Given the description of an element on the screen output the (x, y) to click on. 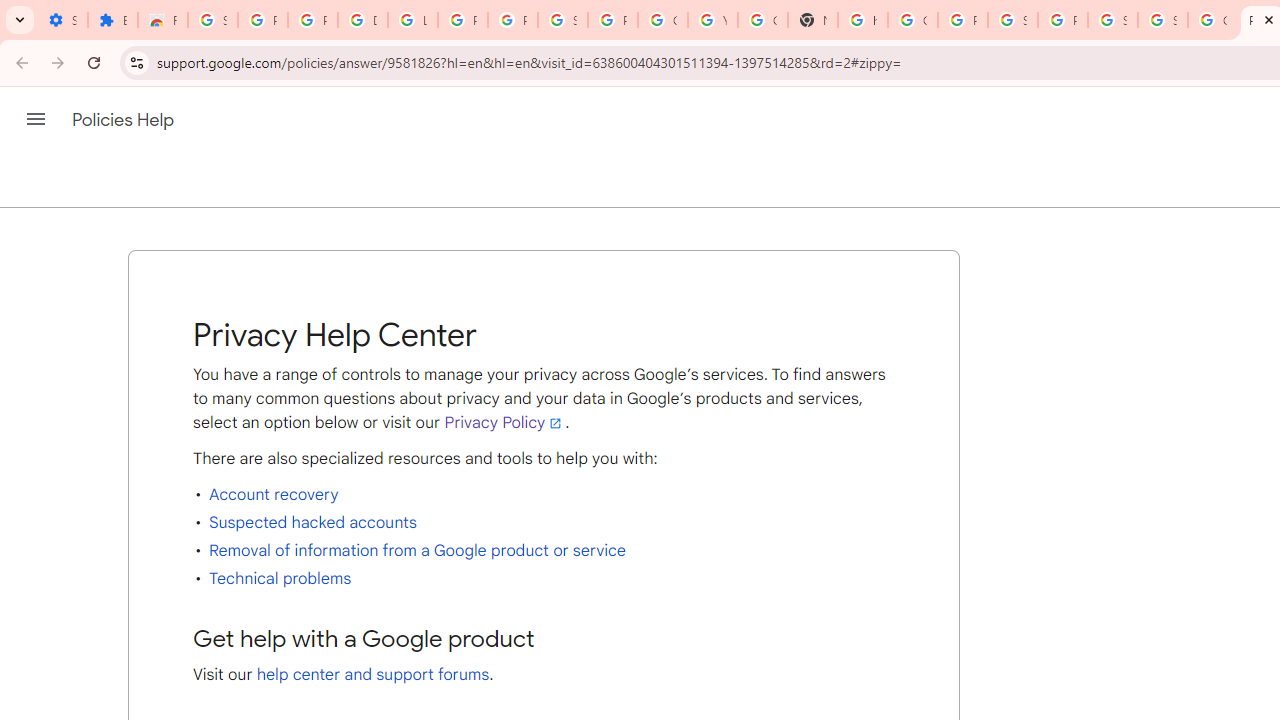
Reviews: Helix Fruit Jump Arcade Game (163, 20)
Removal of information from a Google product or service (416, 550)
Policies Help (124, 119)
help center and support forums (373, 674)
Sign in - Google Accounts (1162, 20)
